Given the description of an element on the screen output the (x, y) to click on. 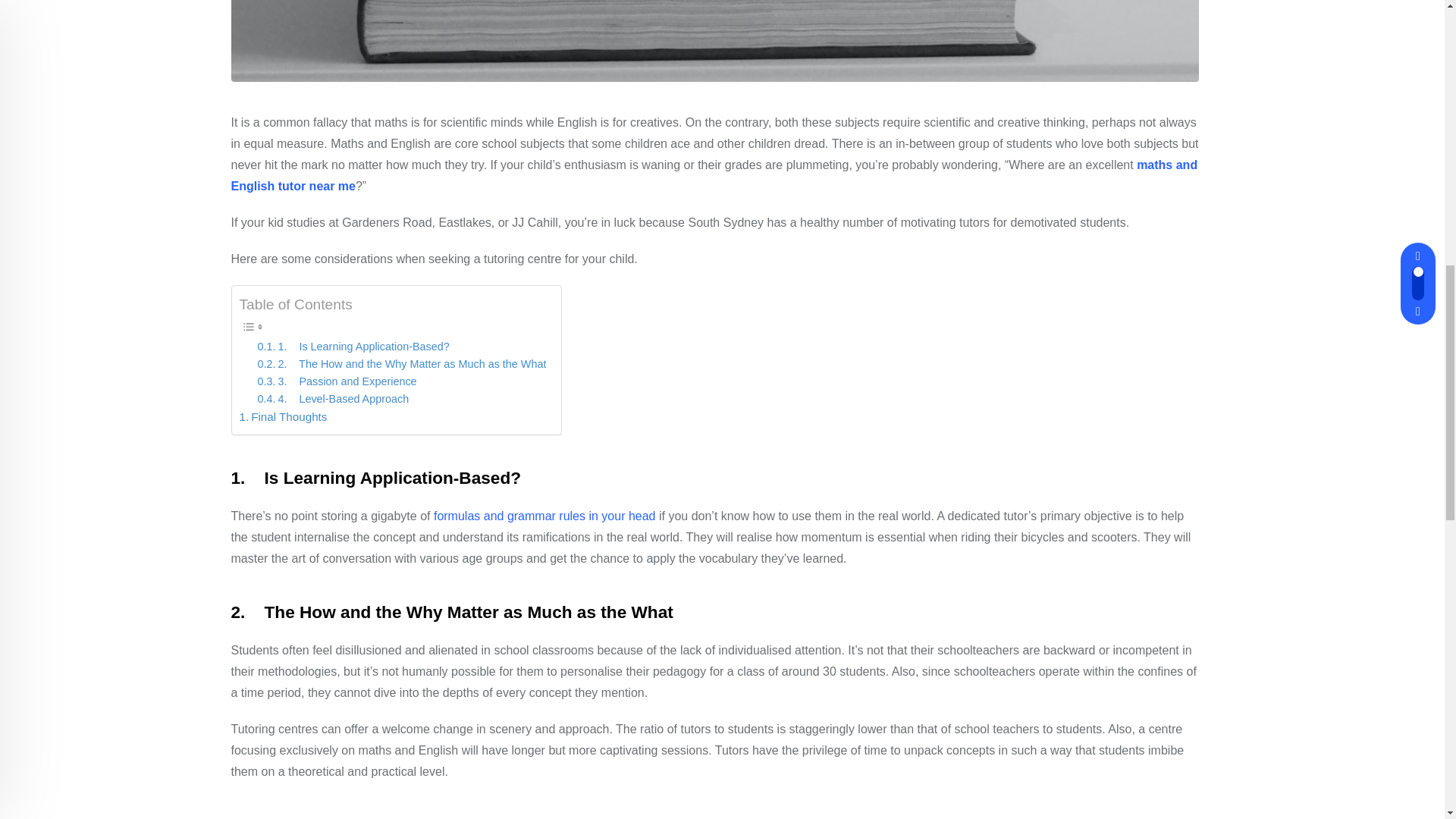
Final Thoughts (283, 416)
